Given the description of an element on the screen output the (x, y) to click on. 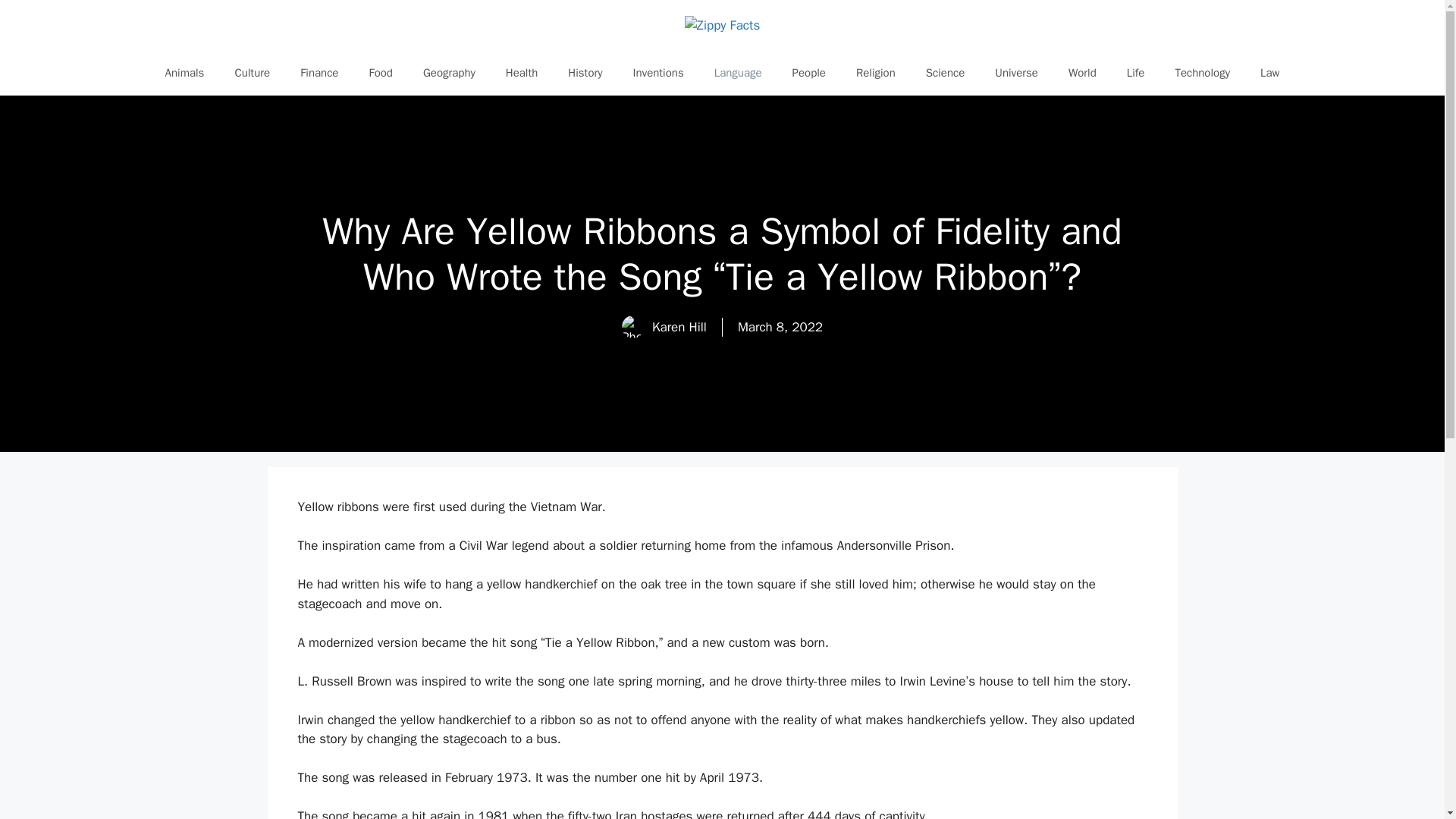
Religion (876, 72)
Language (737, 72)
Health (521, 72)
Food (380, 72)
Law (1269, 72)
Inventions (657, 72)
Life (1136, 72)
Culture (252, 72)
History (585, 72)
Universe (1015, 72)
